Given the description of an element on the screen output the (x, y) to click on. 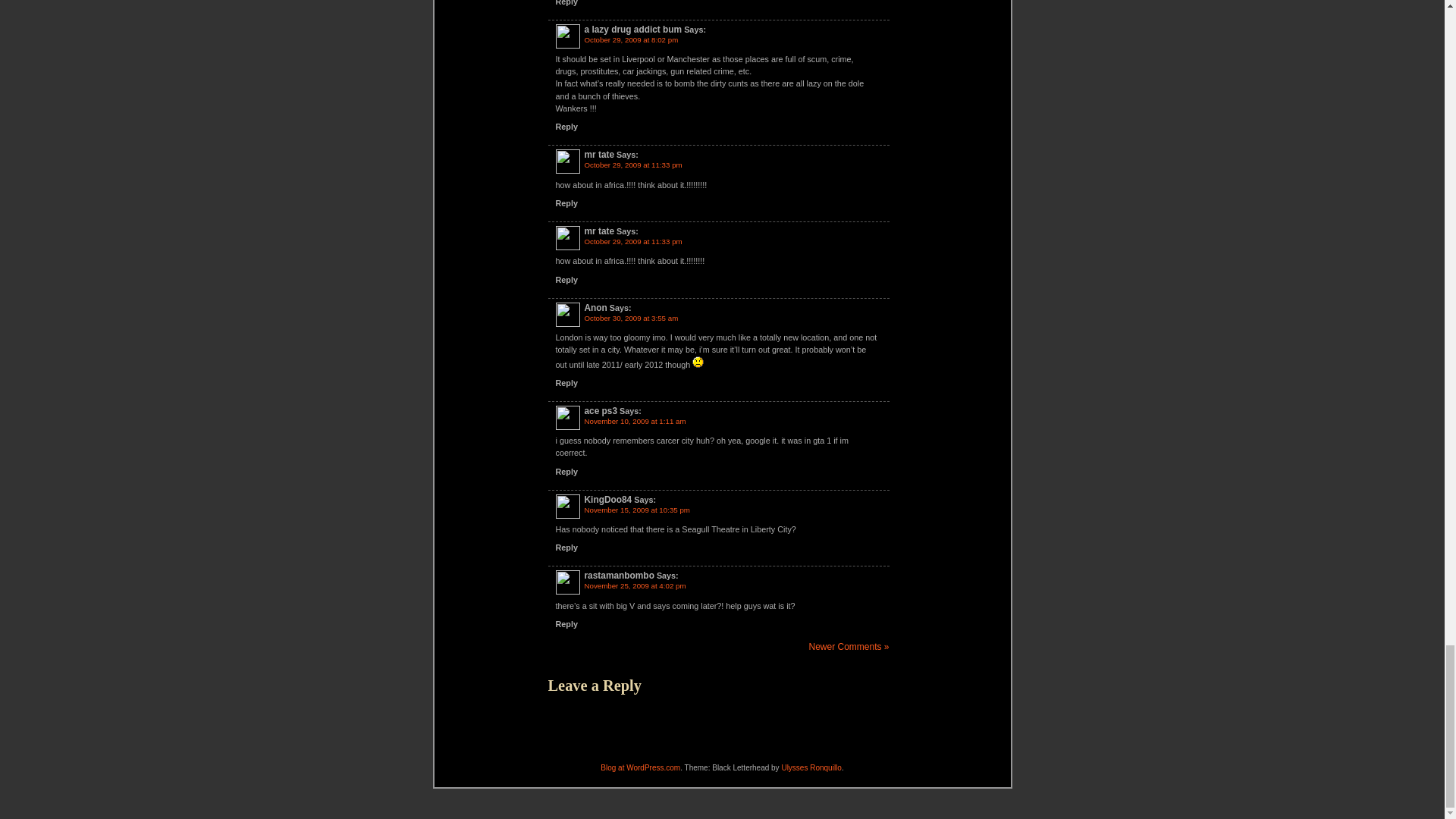
October 29, 2009 at 8:02 pm (630, 40)
October 29, 2009 at 11:33 pm (632, 164)
Blog at WordPress.com (639, 767)
November 10, 2009 at 1:11 am (634, 420)
November 25, 2009 at 4:02 pm (634, 585)
November 15, 2009 at 10:35 pm (635, 510)
Ulysses Ronquillo (810, 767)
October 29, 2009 at 11:33 pm (632, 241)
October 30, 2009 at 3:55 am (630, 317)
